Given the description of an element on the screen output the (x, y) to click on. 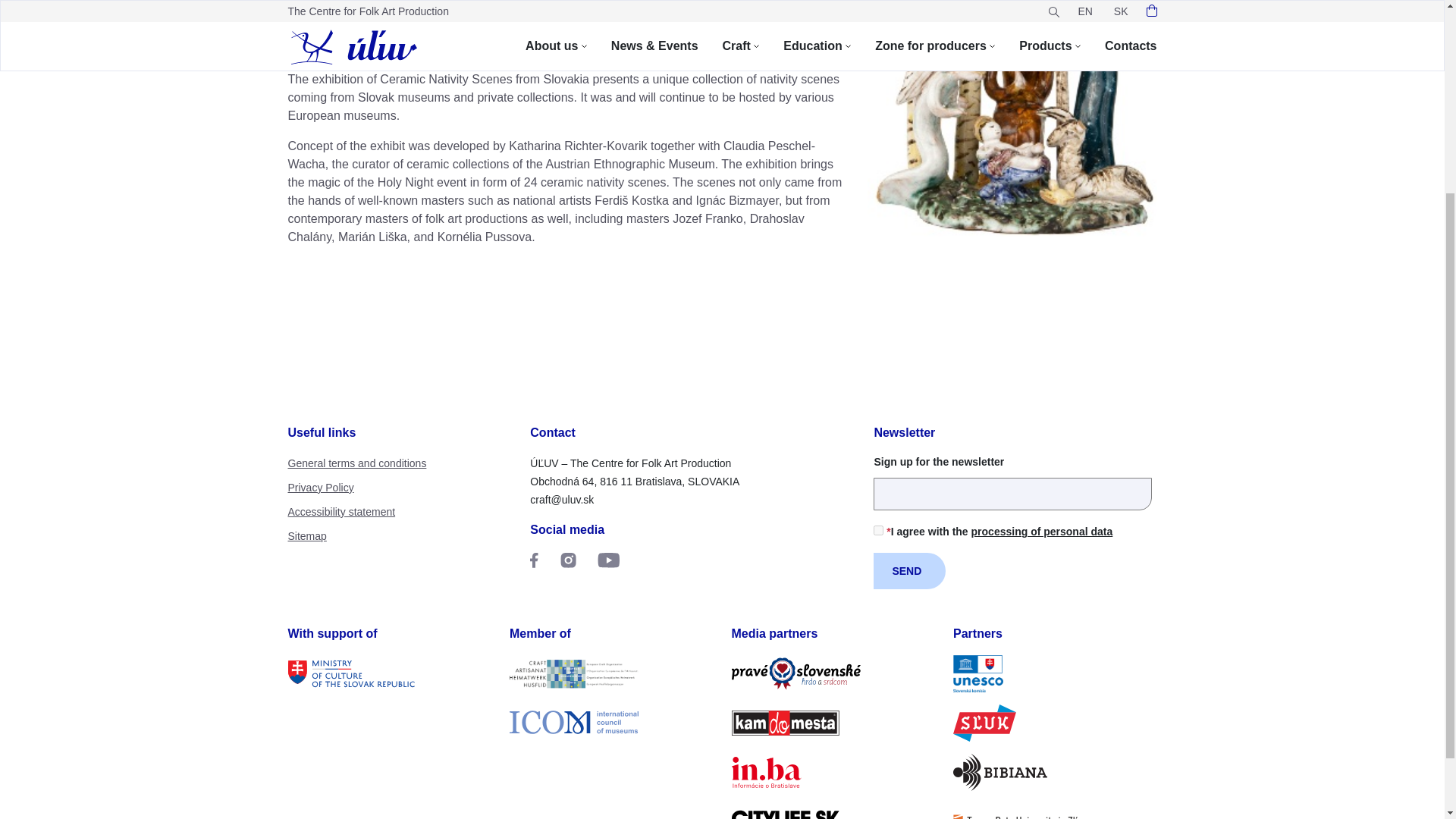
praveslovenske.sk (832, 673)
kamdomesta.sk (832, 723)
Ministry of Culture of the Slovak Republic (390, 673)
Send (908, 570)
in.ba (832, 772)
1 (878, 530)
